Given the description of an element on the screen output the (x, y) to click on. 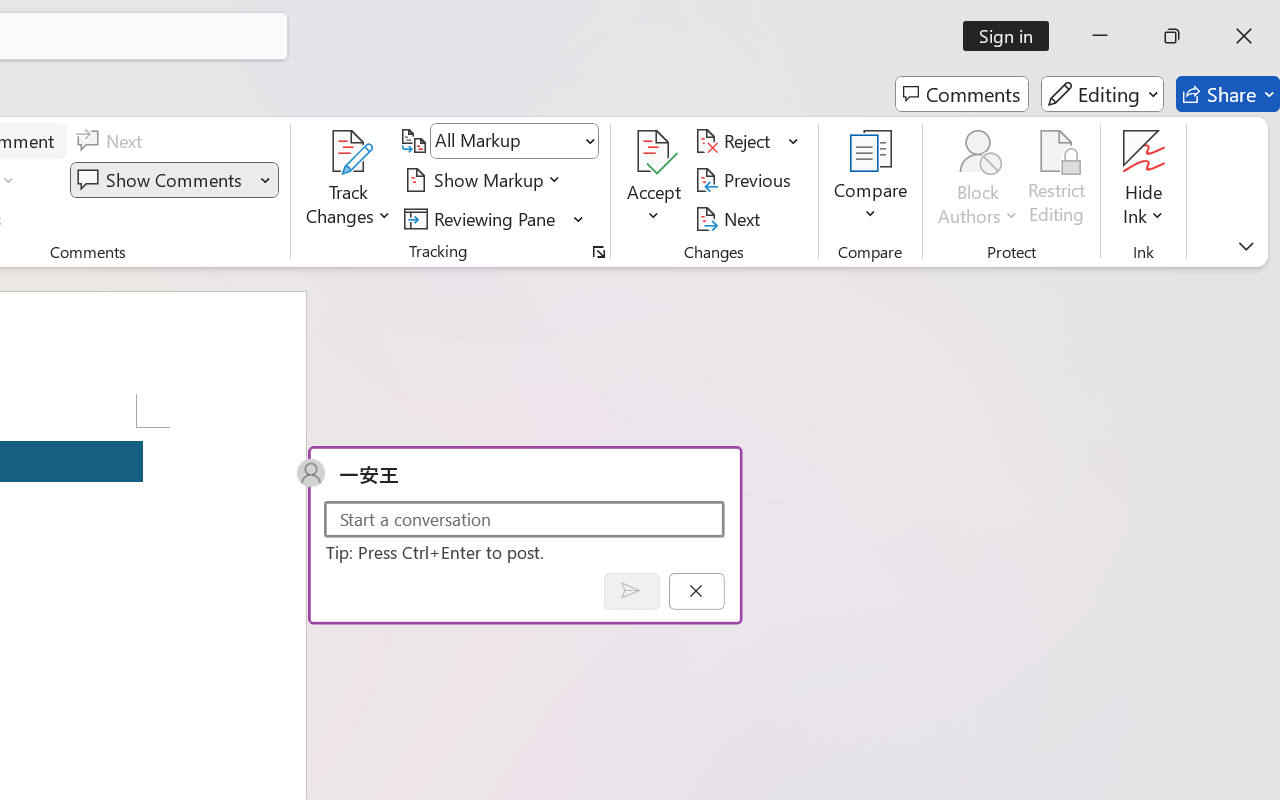
Start a conversation (524, 518)
Editing (1101, 94)
Accept (653, 179)
Sign in (1012, 35)
Compare (870, 179)
Restrict Editing (1057, 179)
Hide Ink (1144, 151)
Display for Review (514, 141)
Track Changes (349, 151)
Show Markup (485, 179)
Post comment (Ctrl + Enter) (630, 590)
